Given the description of an element on the screen output the (x, y) to click on. 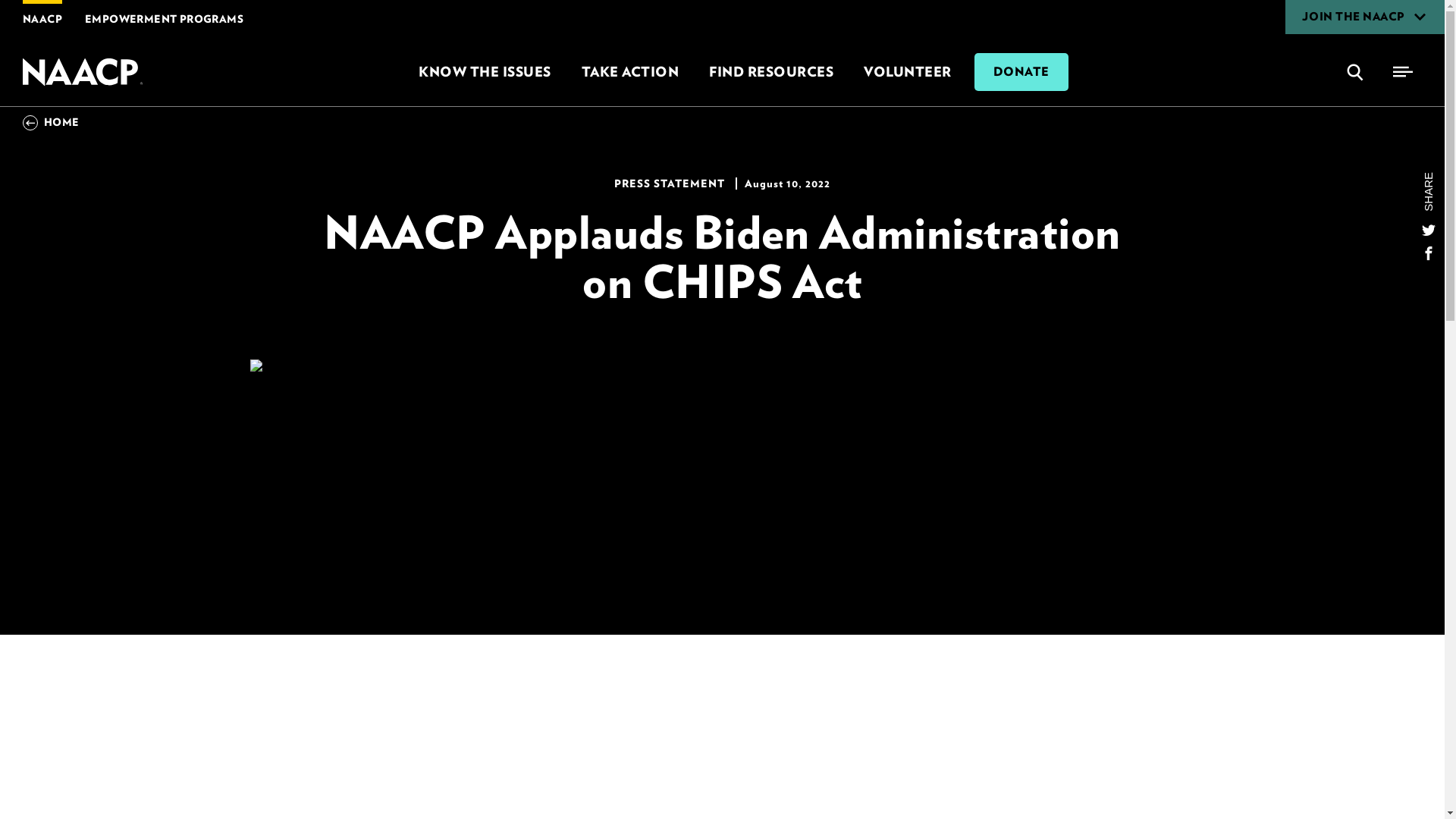
Action Center (630, 71)
All Issues (484, 71)
NAACP (84, 71)
